Given the description of an element on the screen output the (x, y) to click on. 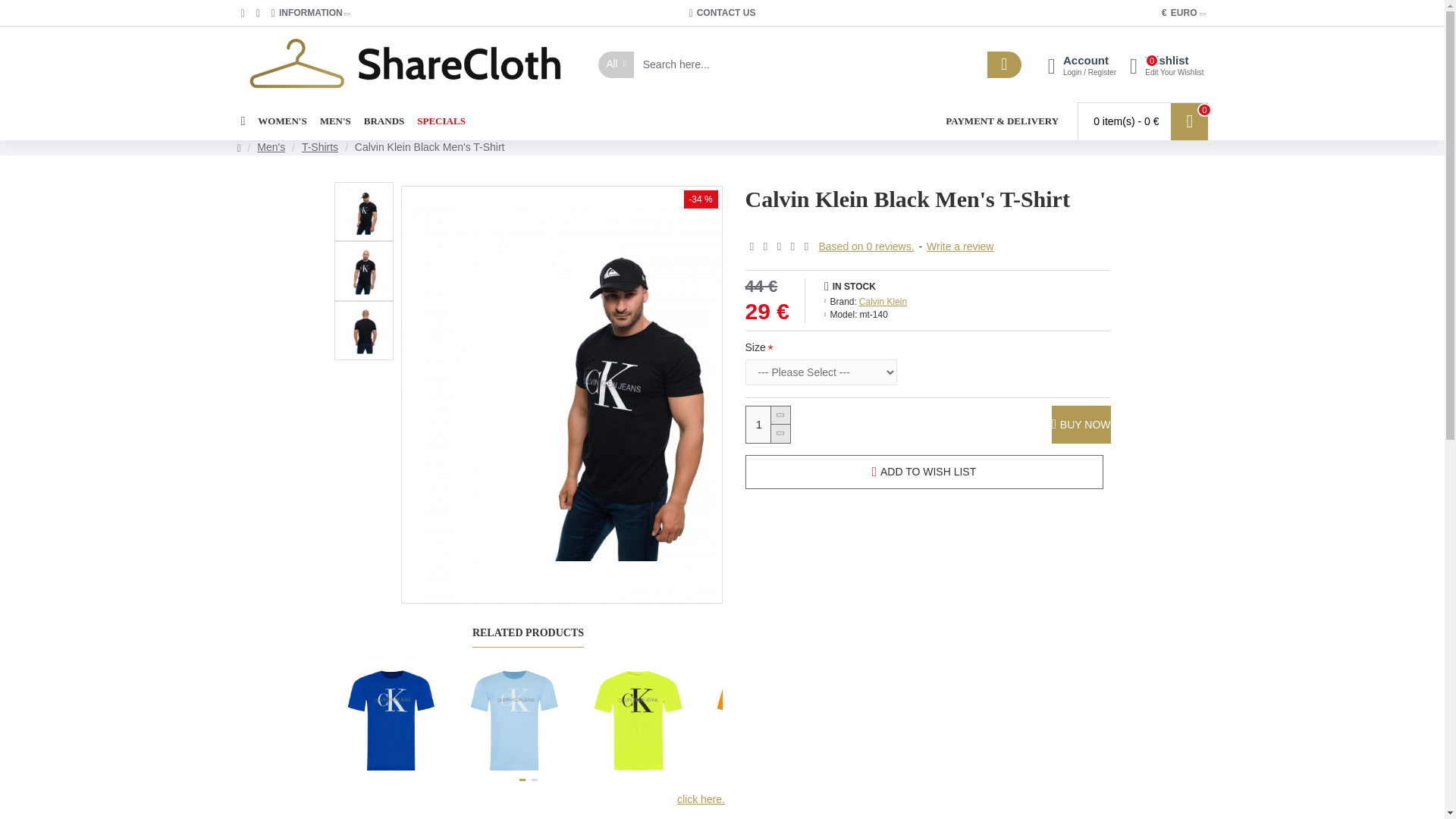
Calvin Klein Blue Men's T-Shirt (392, 720)
Calvin Klein Black Men's T-Shirt (363, 270)
Calvin Klein Orange Men's T-Shirt (1166, 64)
Calvin Klein Black Men's T-Shirt (761, 720)
1 (363, 210)
ShareCloth (767, 424)
Calvin Klein Light Blue Men's T-Shirt (405, 64)
INFORMATION (515, 720)
WOMEN'S (310, 13)
Calvin Klein Yellow Men's T-Shirt (281, 121)
CONTACT US (637, 720)
Calvin Klein Black Men's T-Shirt (722, 13)
